Given the description of an element on the screen output the (x, y) to click on. 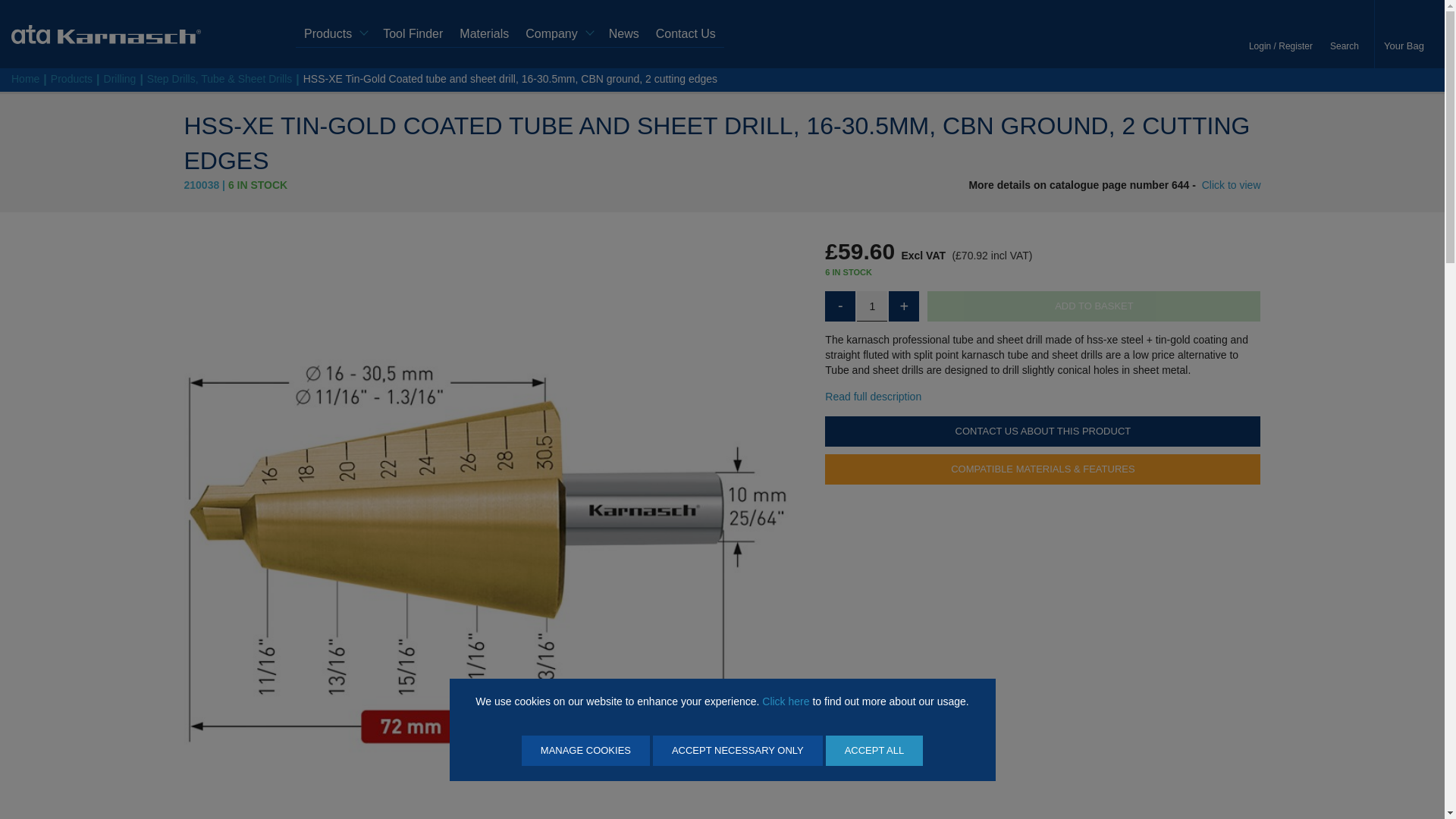
1 (871, 306)
ACCEPT NECESSARY ONLY (737, 750)
Click here (785, 701)
Karnasch (105, 33)
ACCEPT ALL (874, 750)
Products (334, 34)
MANAGE COOKIES (585, 750)
Products (334, 34)
